Given the description of an element on the screen output the (x, y) to click on. 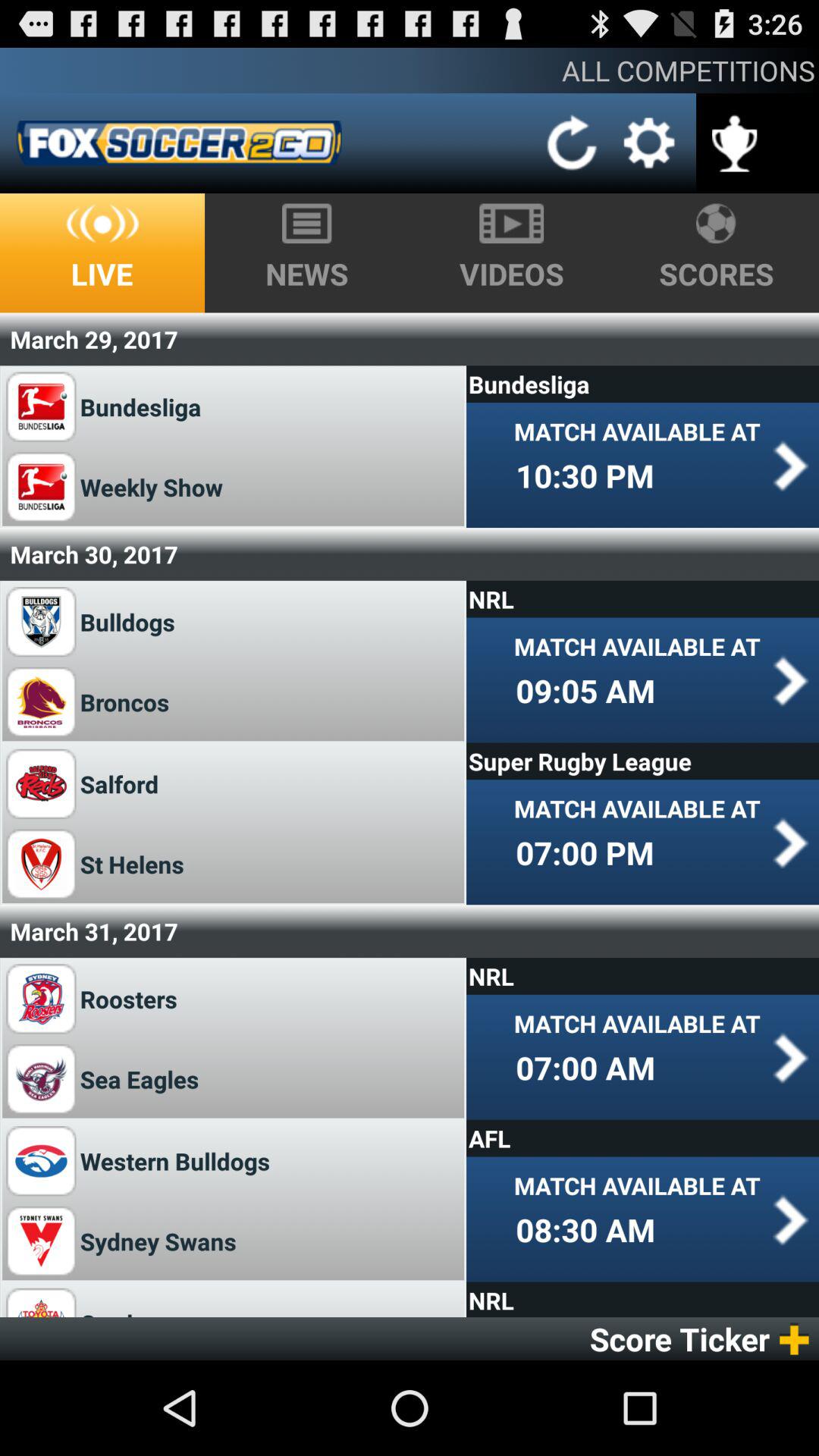
tap app to the right of salford app (642, 760)
